Given the description of an element on the screen output the (x, y) to click on. 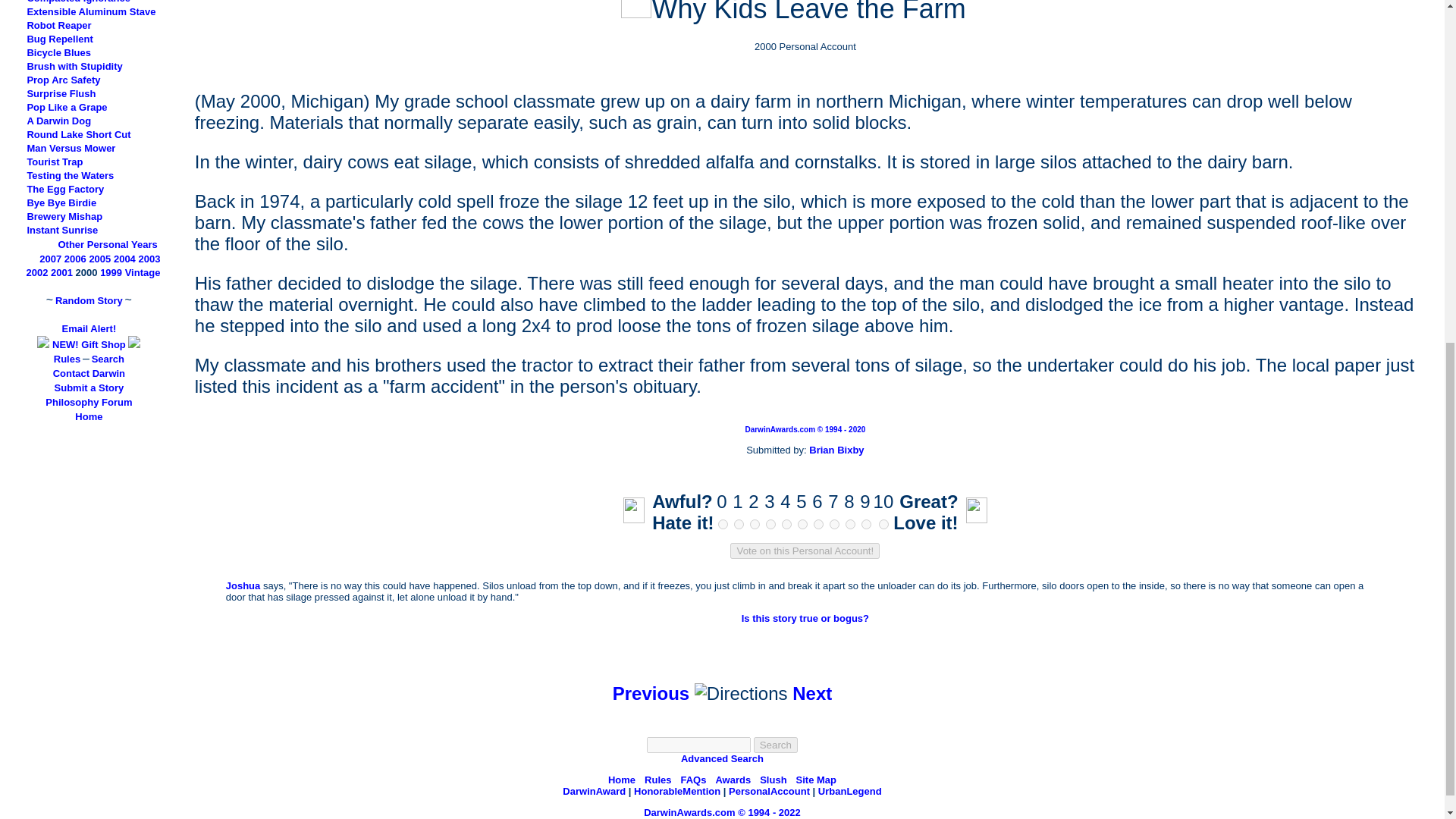
Pop Like a Grape (66, 107)
Brush with Stupidity (74, 66)
Extensible Aluminum Stave (90, 11)
6 (818, 524)
10 (883, 524)
2 (754, 524)
Tourist Trap (54, 161)
Bug Repellent (59, 39)
Search (775, 744)
Round Lake Short Cut (78, 134)
Surprise Flush (61, 93)
1 (738, 524)
A Darwin Dog (58, 120)
9 (865, 524)
Man Versus Mower (70, 147)
